Given the description of an element on the screen output the (x, y) to click on. 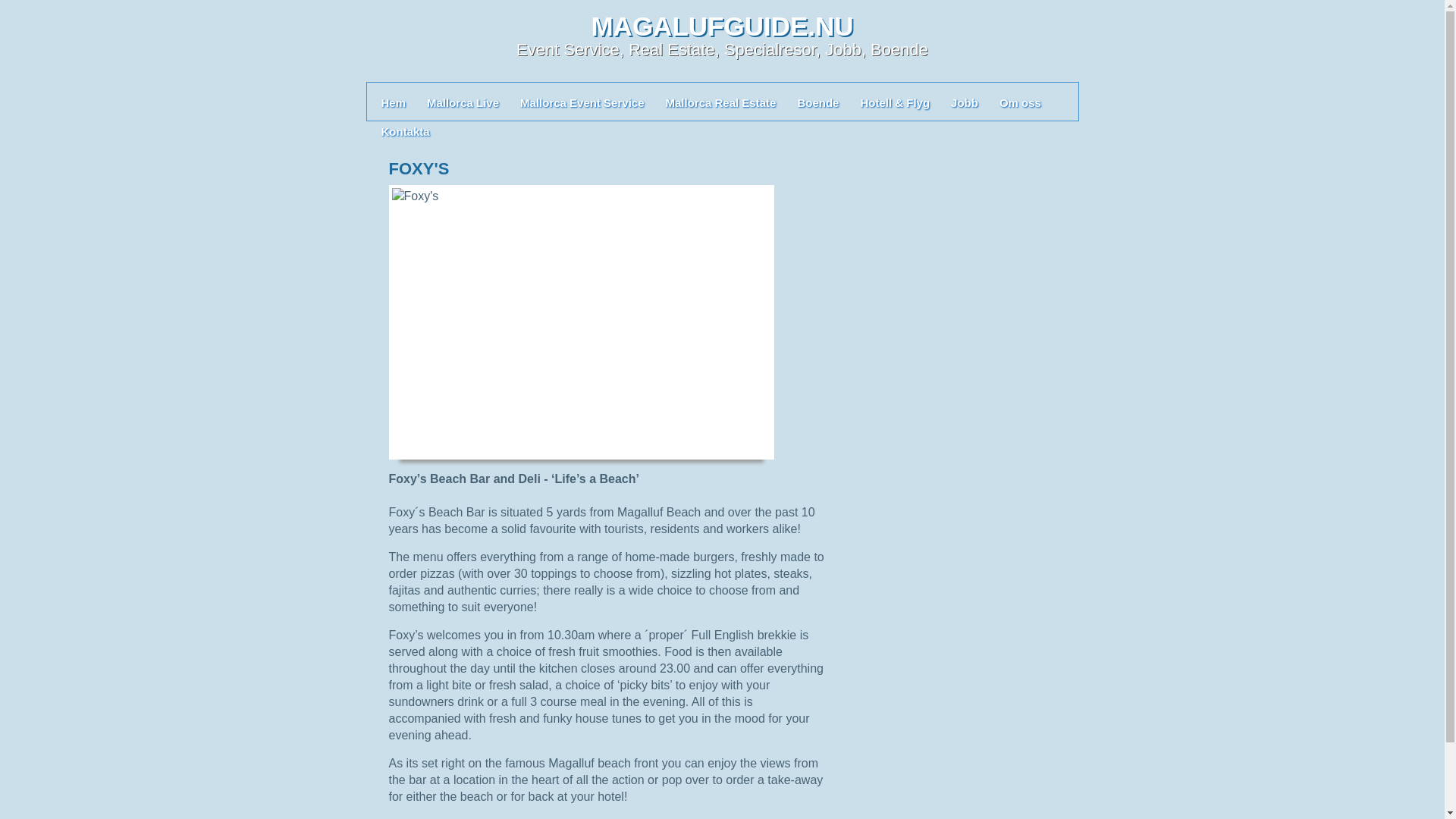
Mallorca Live (462, 102)
Jobb (964, 102)
MAGALUFGUIDE.NU (722, 25)
Boende (817, 102)
Om oss (1019, 102)
Mallorca Event Service (581, 102)
Kontakta (404, 130)
Hem (392, 102)
Mallorca Real Estate (720, 102)
